Given the description of an element on the screen output the (x, y) to click on. 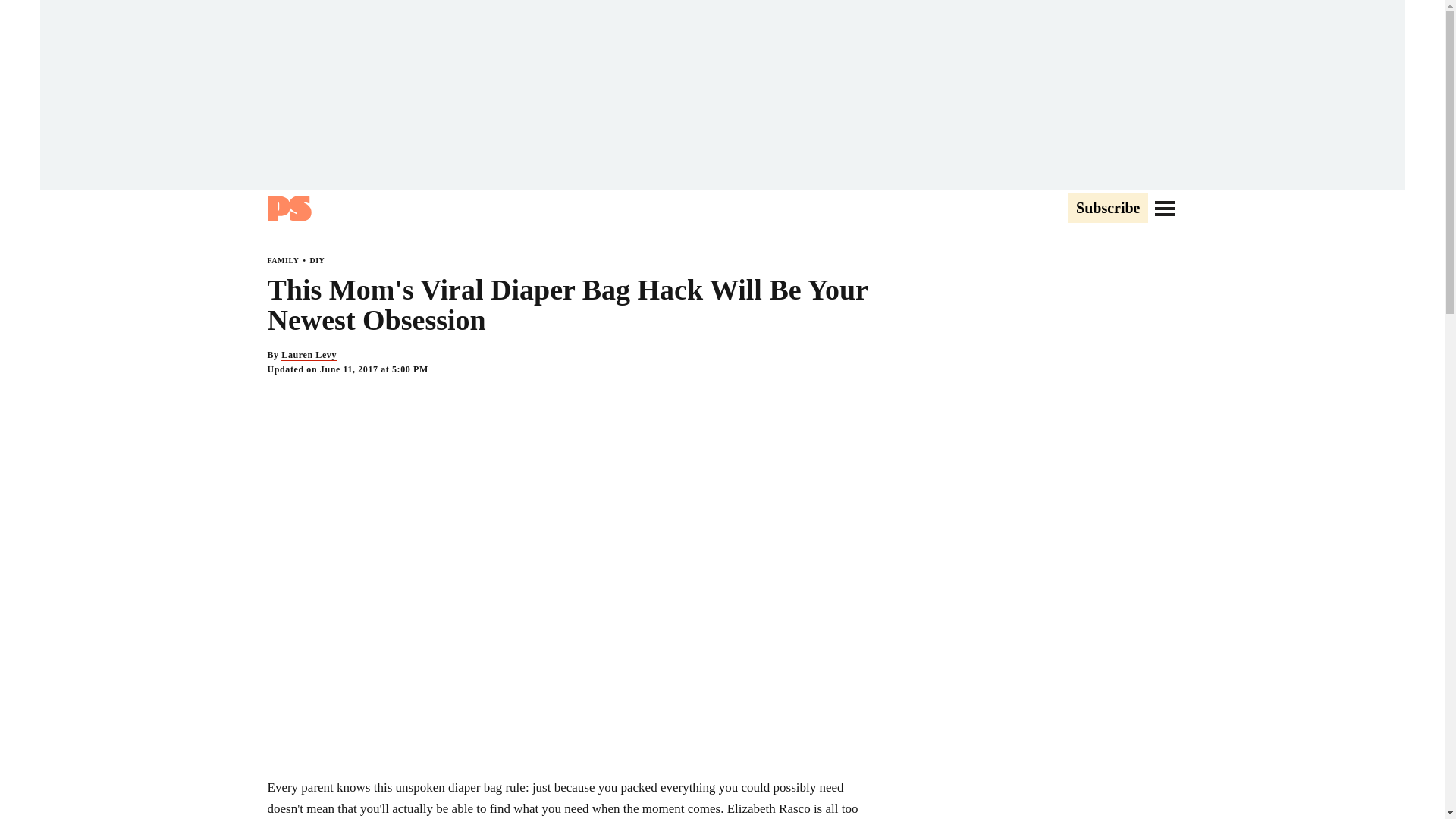
Go to Navigation (1164, 207)
unspoken diaper bag rule (460, 787)
DIY (316, 260)
Lauren Levy (308, 355)
Subscribe (1107, 208)
Popsugar (288, 208)
FAMILY (282, 260)
Go to Navigation (1164, 207)
